Given the description of an element on the screen output the (x, y) to click on. 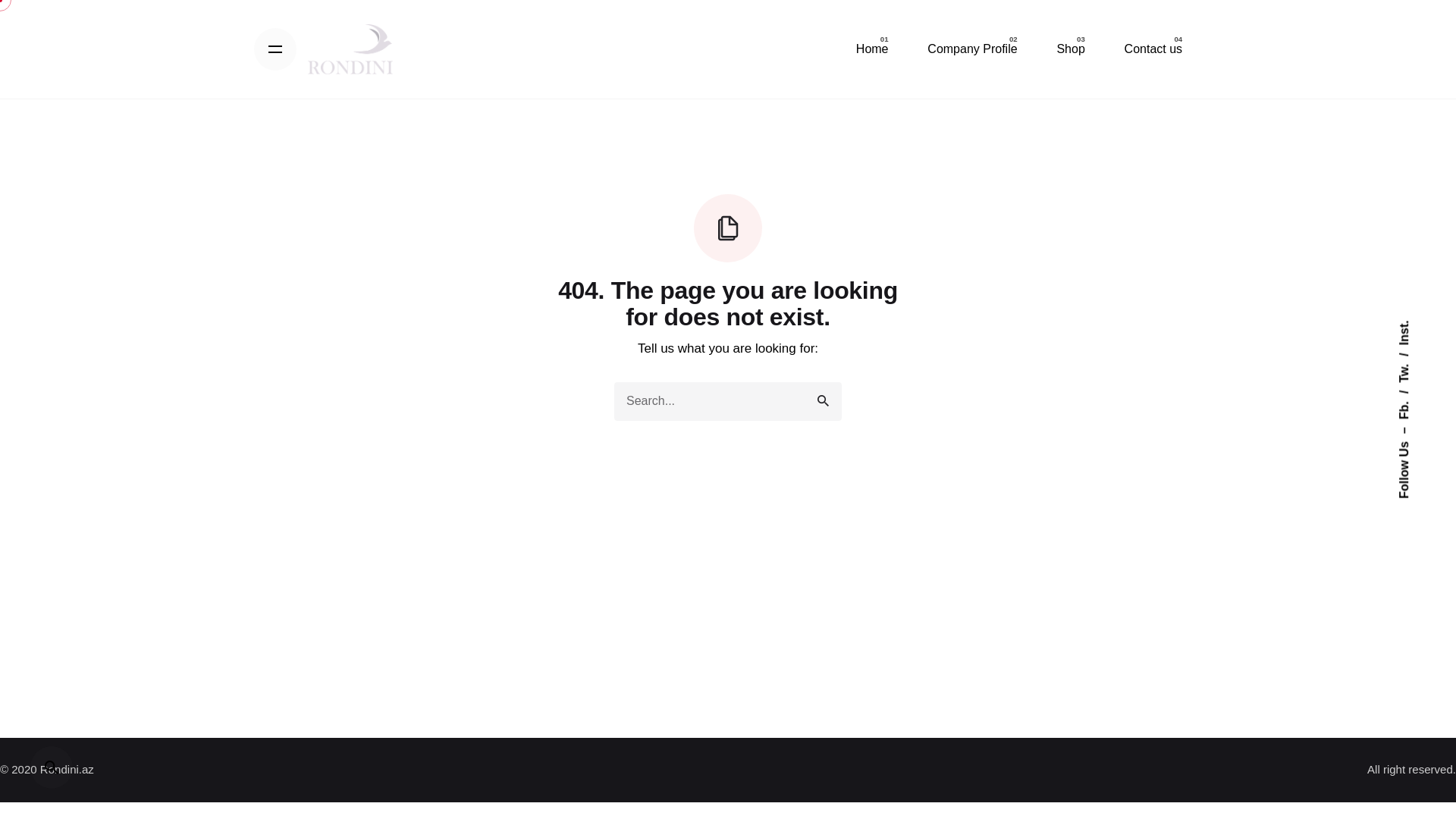
Home Element type: text (872, 49)
Contact us Element type: text (1152, 49)
Skip to content Element type: text (0, 0)
Fb. Element type: text (1411, 396)
Shop Element type: text (1070, 49)
Inst. Element type: text (1409, 326)
Company Profile Element type: text (971, 49)
Tw. Element type: text (1412, 358)
